Given the description of an element on the screen output the (x, y) to click on. 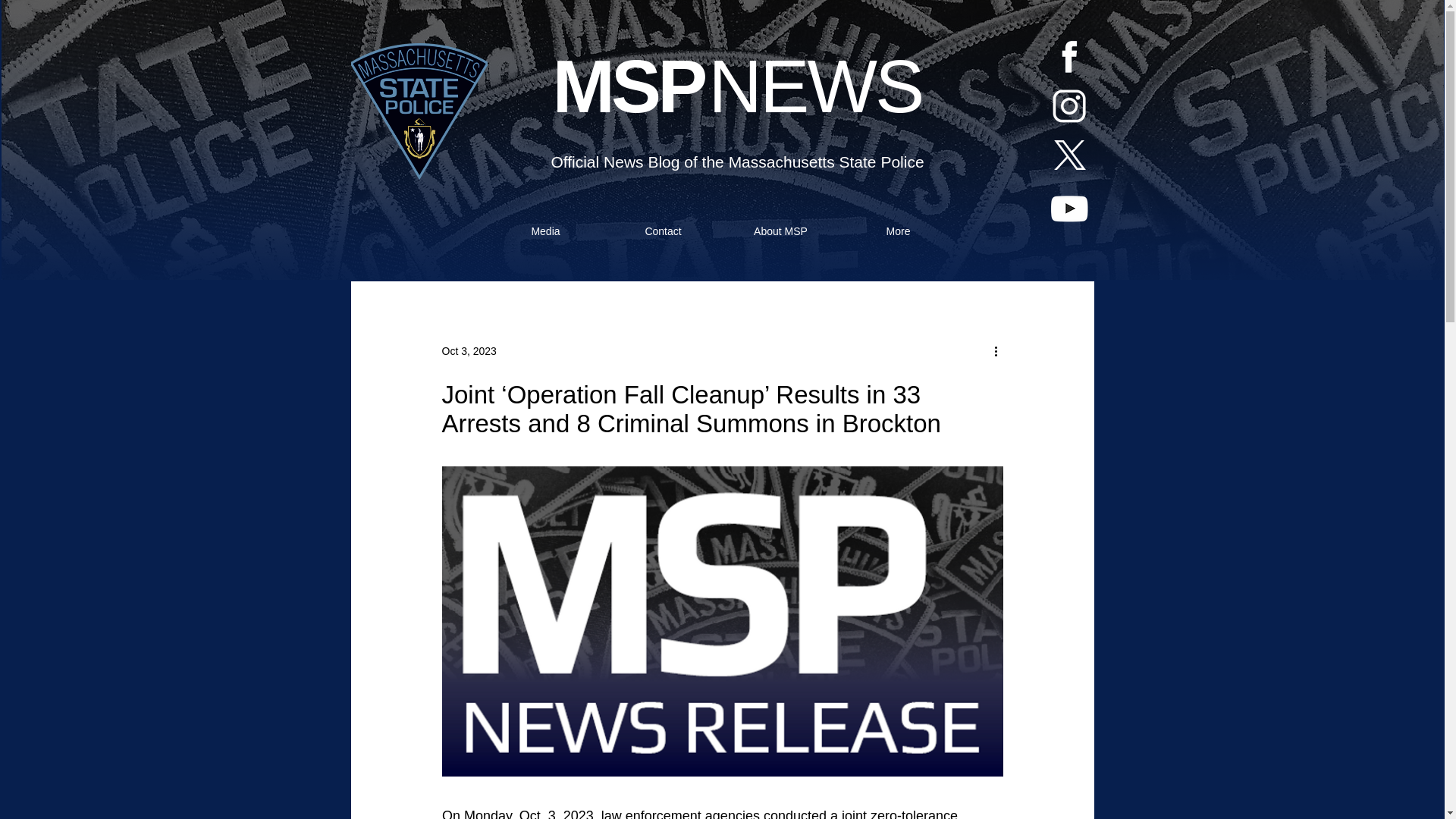
Contact (663, 230)
Media (545, 230)
About MSP (781, 230)
MSPNEWS (738, 86)
Oct 3, 2023 (468, 349)
